Given the description of an element on the screen output the (x, y) to click on. 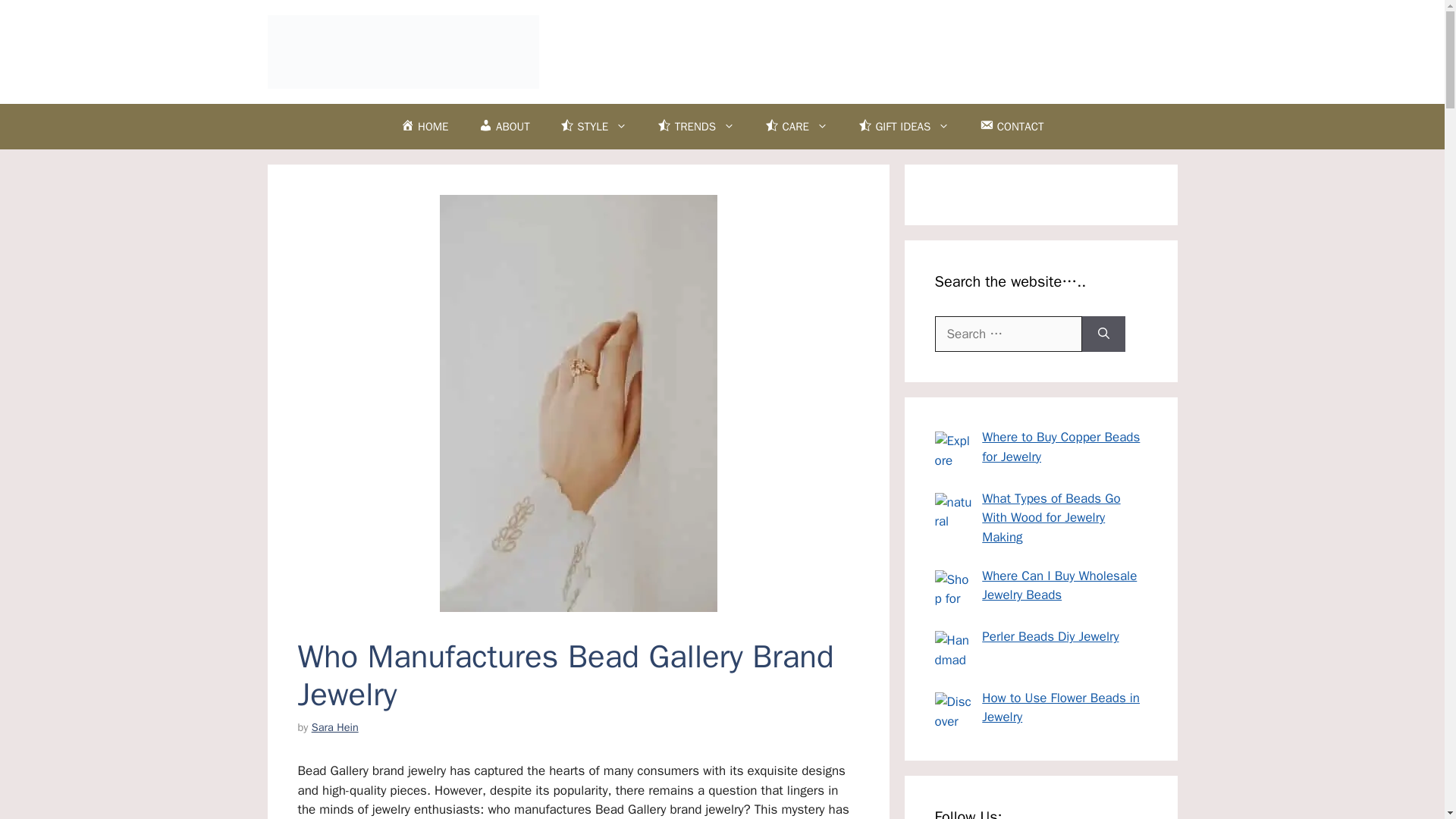
HOME (424, 126)
ABOUT (504, 126)
STYLE (593, 126)
View all posts by Sara Hein (334, 726)
